Given the description of an element on the screen output the (x, y) to click on. 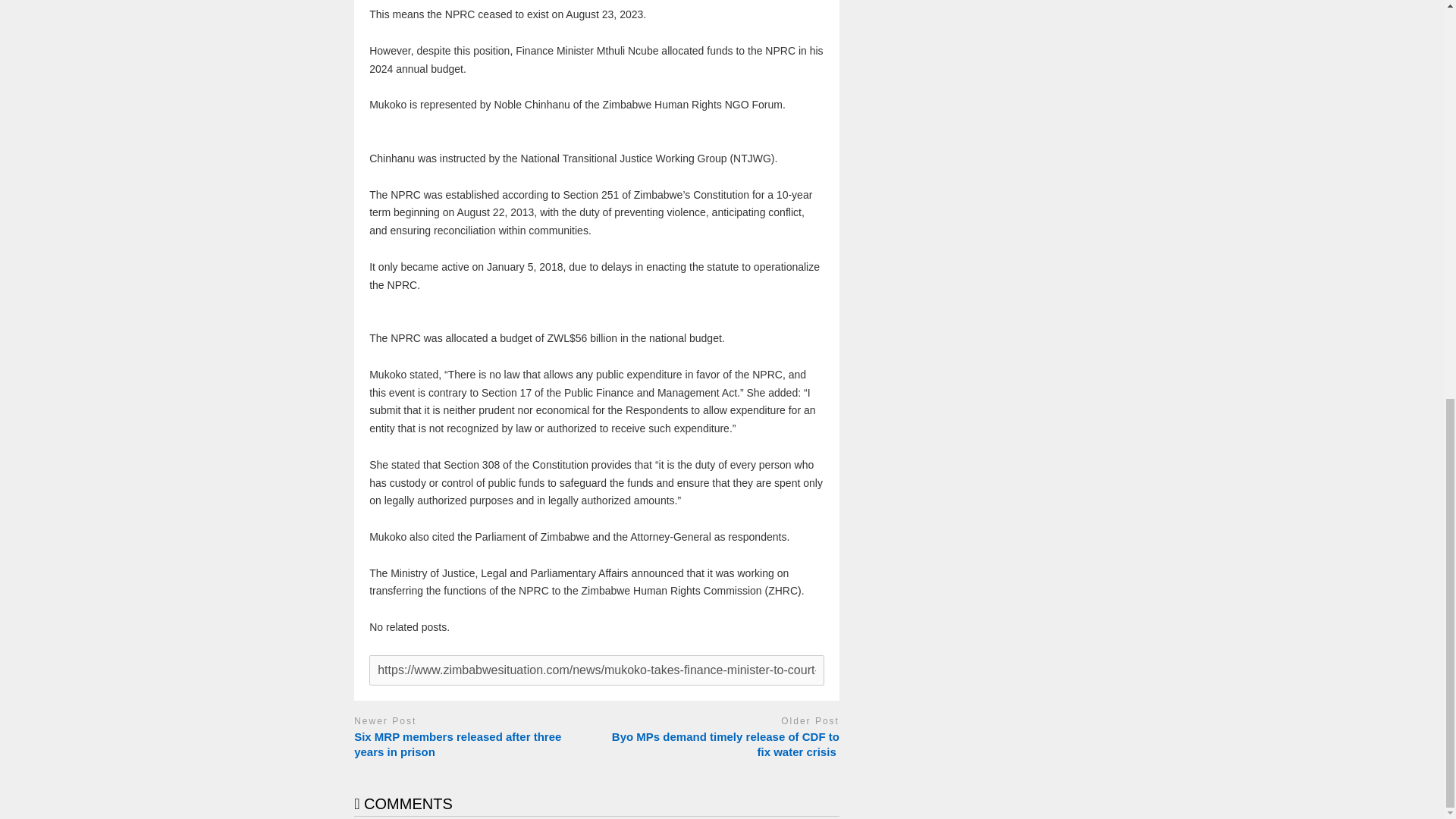
Six MRP members released after three years in prison  (471, 744)
Byo MPs demand timely release of CDF to fix water crisis  (722, 744)
